Given the description of an element on the screen output the (x, y) to click on. 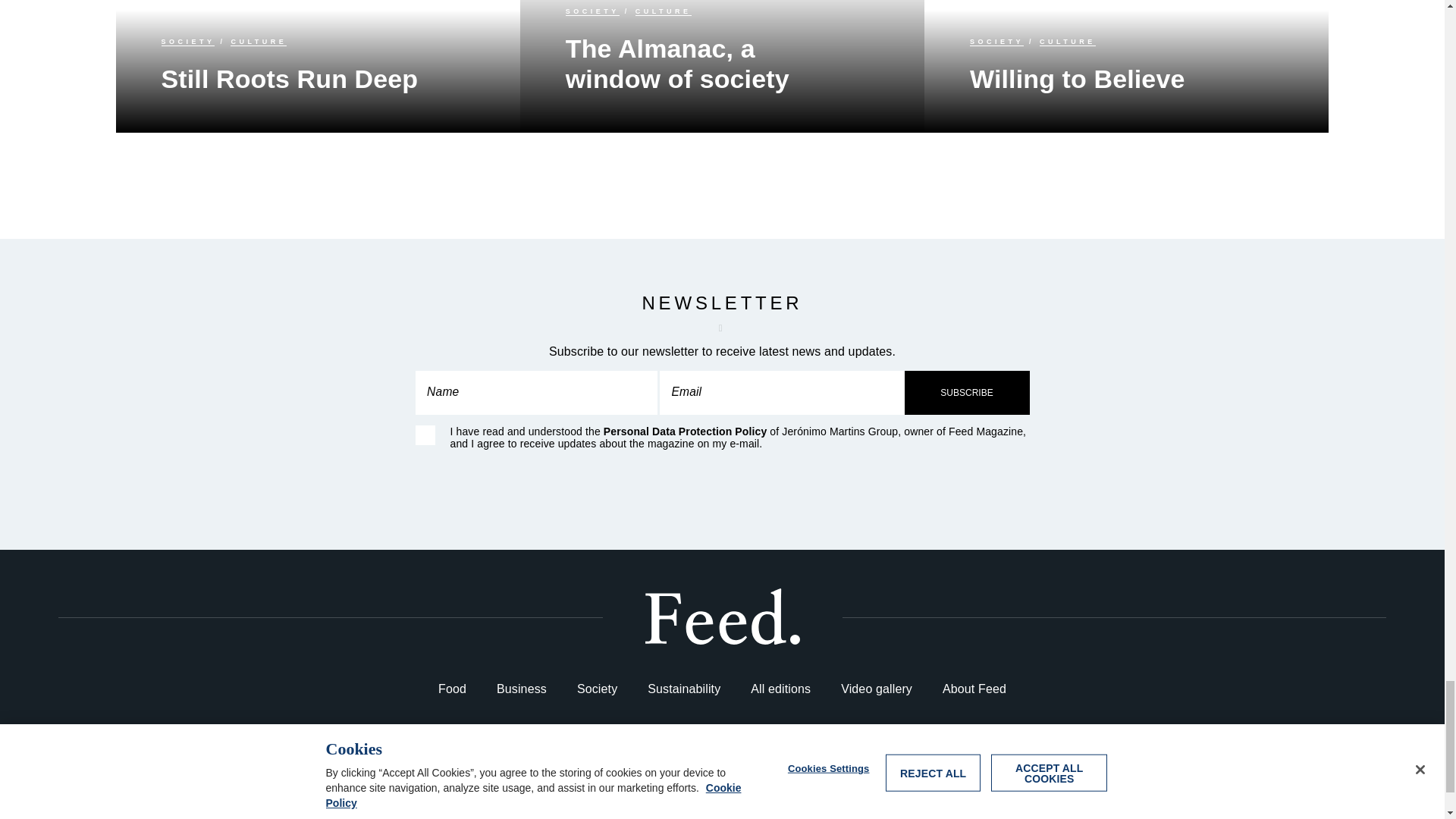
Subscribe (966, 392)
Willing to Believe (1125, 66)
The Almanac, a window of society (721, 66)
1 (424, 435)
Still Roots Run Deep (317, 66)
